Given the description of an element on the screen output the (x, y) to click on. 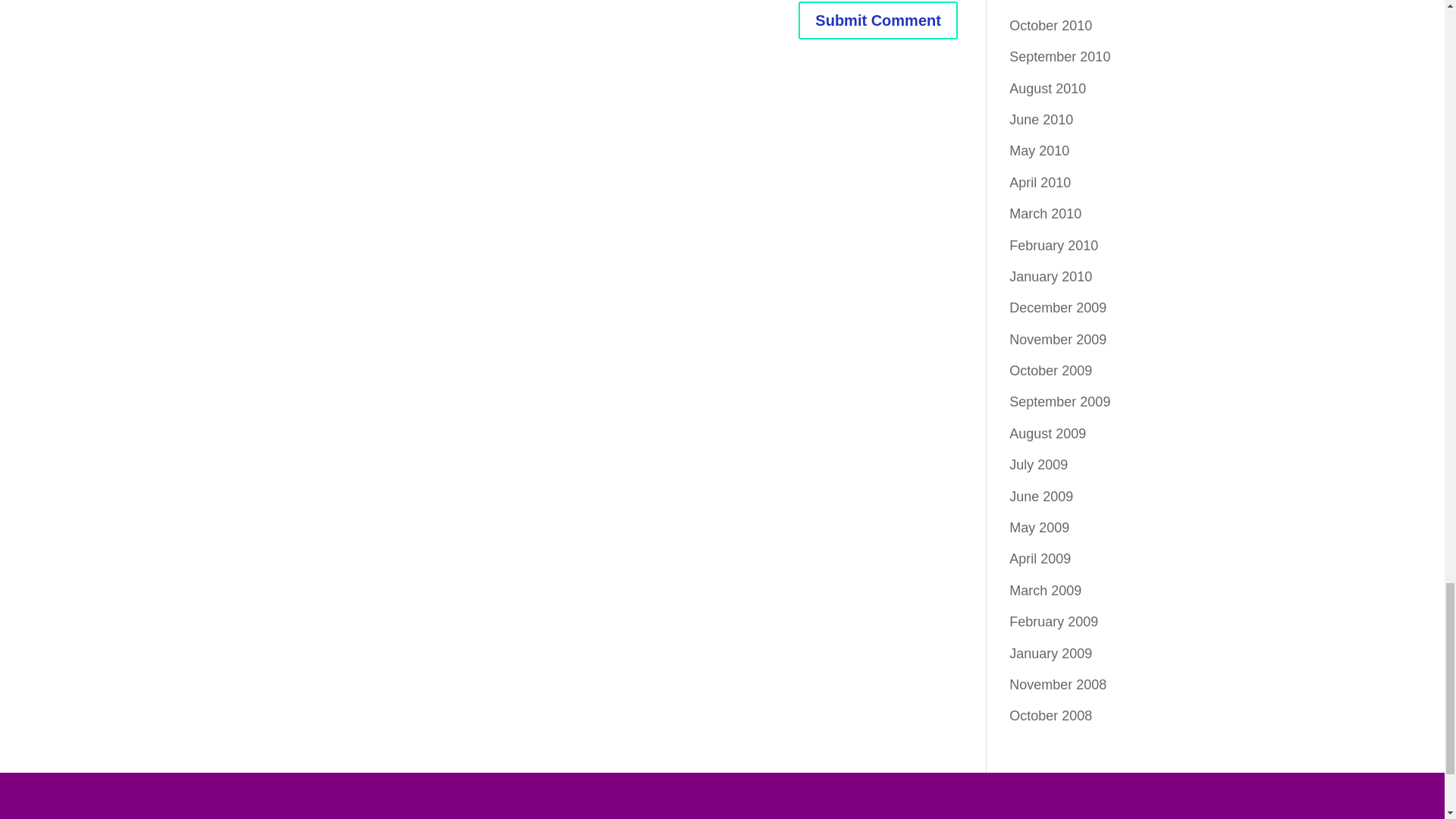
cropped-Dream-Site-Logo.png (721, 799)
Submit Comment (877, 20)
